Given the description of an element on the screen output the (x, y) to click on. 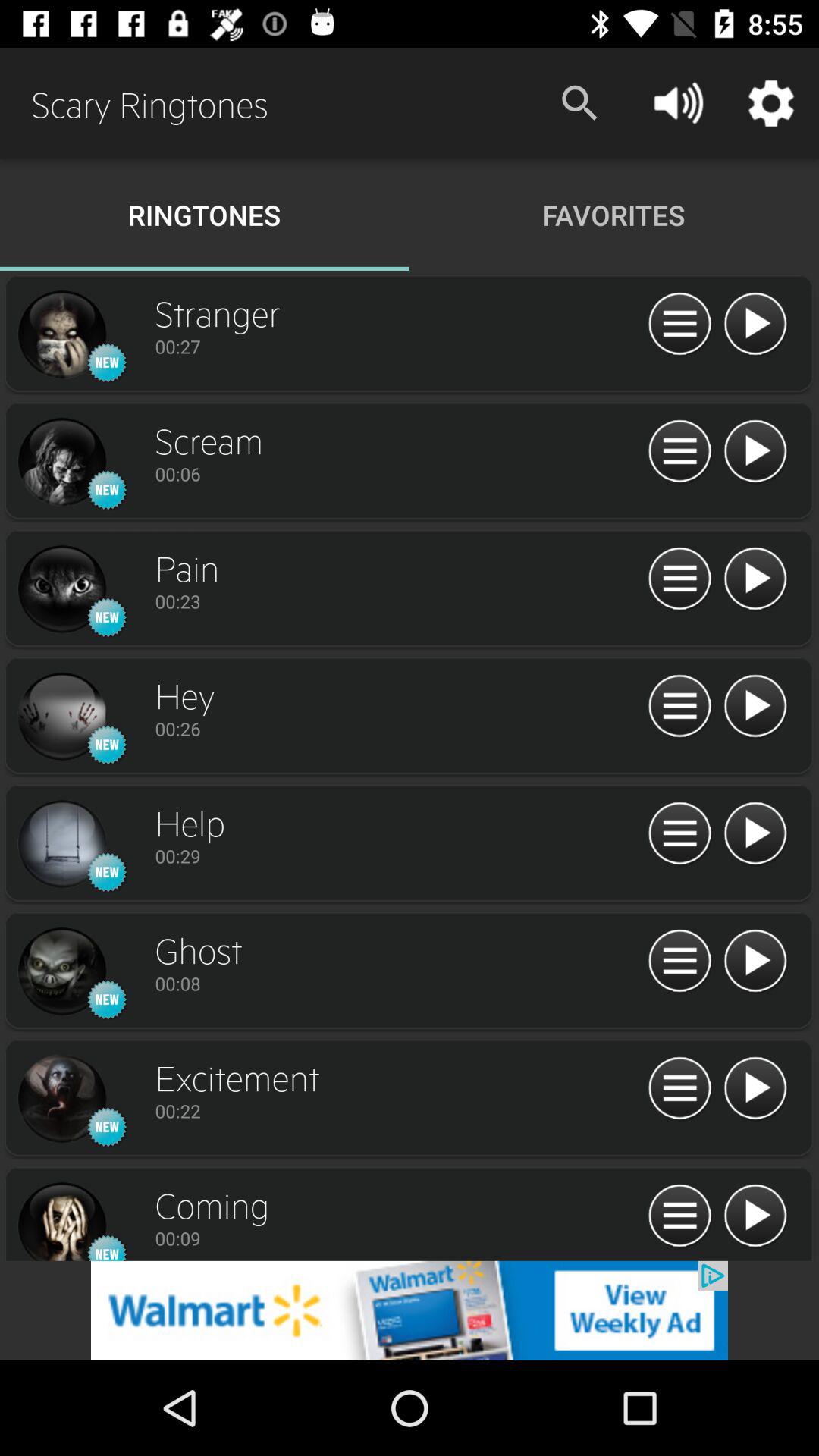
choose option (679, 1216)
